Given the description of an element on the screen output the (x, y) to click on. 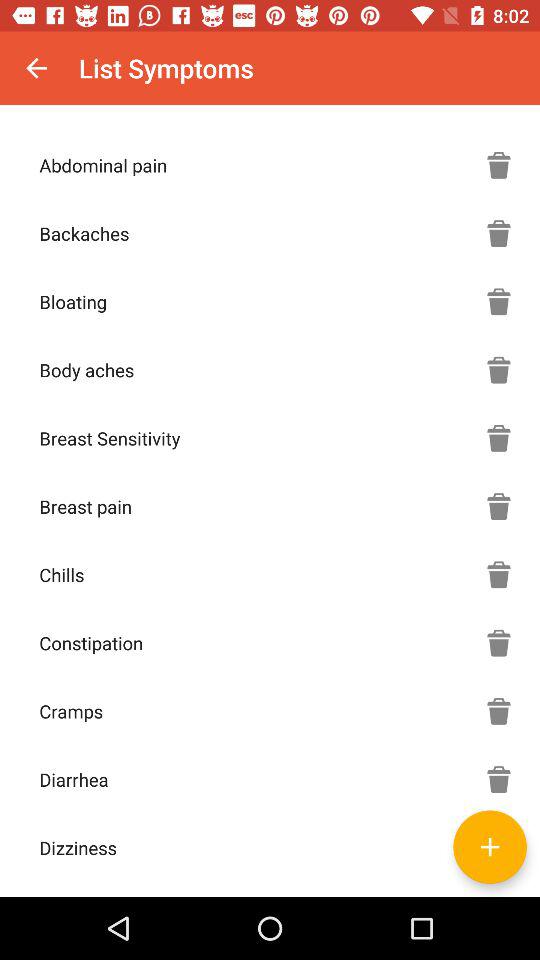
add symptom (499, 847)
